Given the description of an element on the screen output the (x, y) to click on. 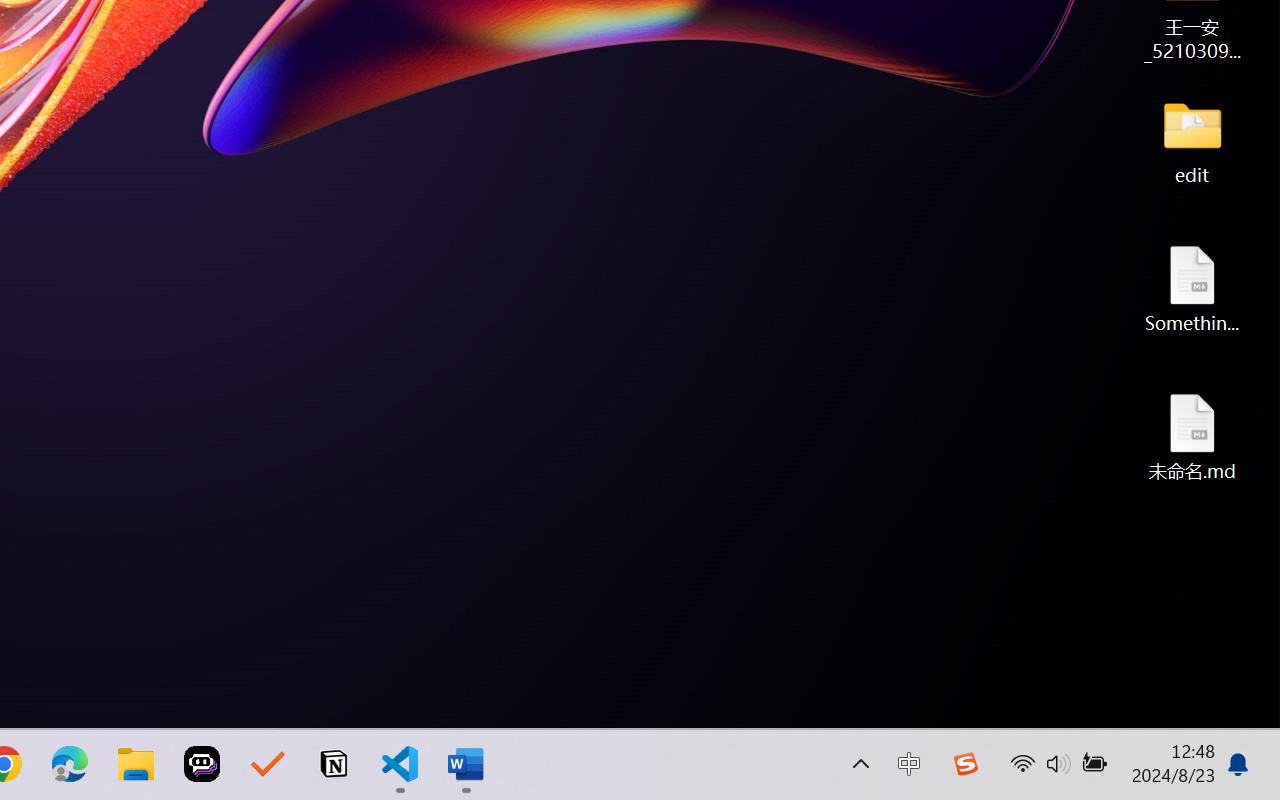
Microsoft Edge (69, 764)
